Given the description of an element on the screen output the (x, y) to click on. 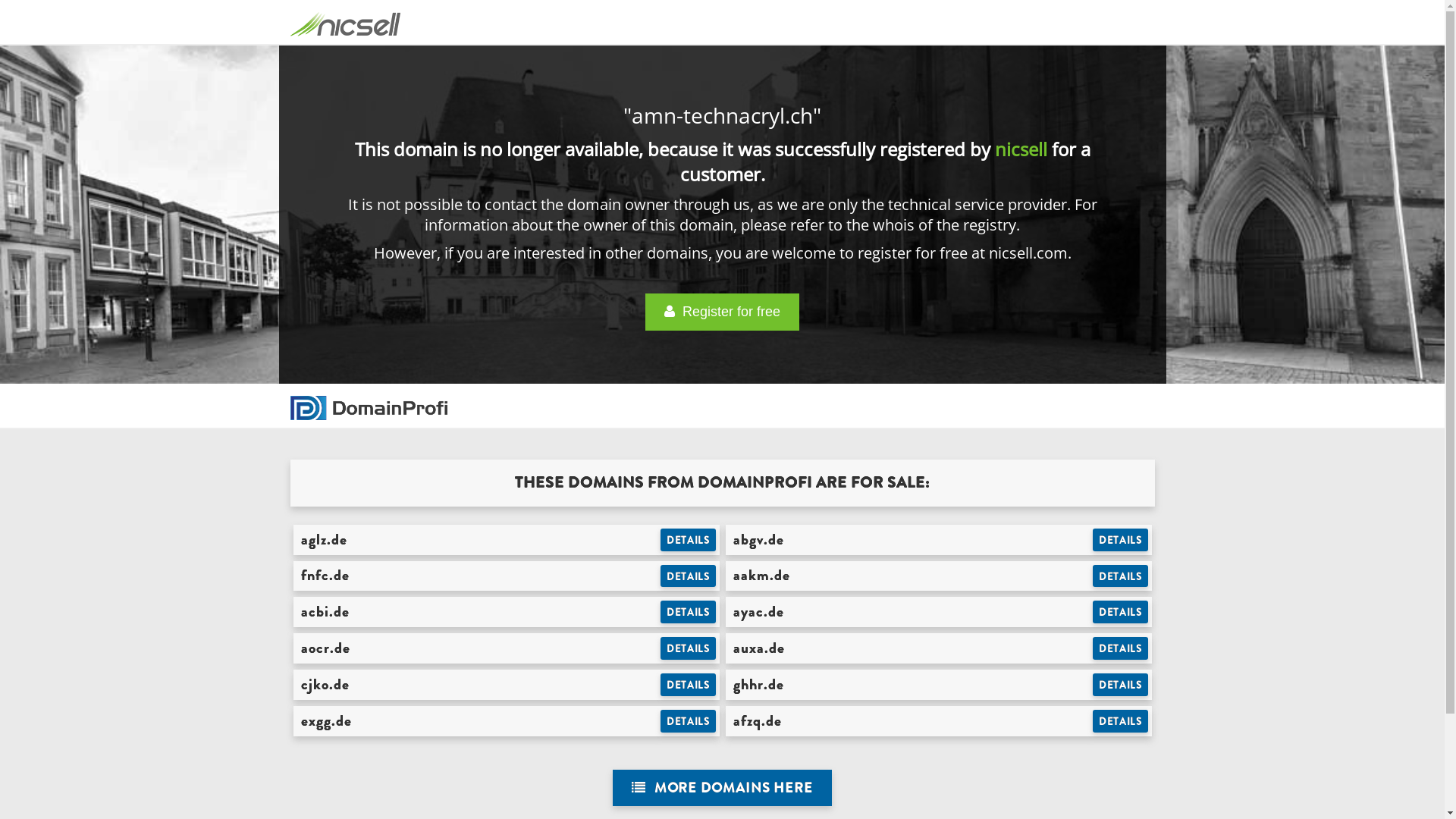
DETAILS Element type: text (687, 648)
DETAILS Element type: text (687, 539)
DETAILS Element type: text (1120, 611)
nicsell Element type: text (1020, 148)
  Register for free Element type: text (722, 311)
DETAILS Element type: text (1120, 539)
DETAILS Element type: text (1120, 648)
DETAILS Element type: text (687, 684)
DETAILS Element type: text (1120, 575)
DETAILS Element type: text (687, 720)
DETAILS Element type: text (687, 575)
DETAILS Element type: text (1120, 720)
  MORE DOMAINS HERE Element type: text (721, 787)
DETAILS Element type: text (687, 611)
DETAILS Element type: text (1120, 684)
